Given the description of an element on the screen output the (x, y) to click on. 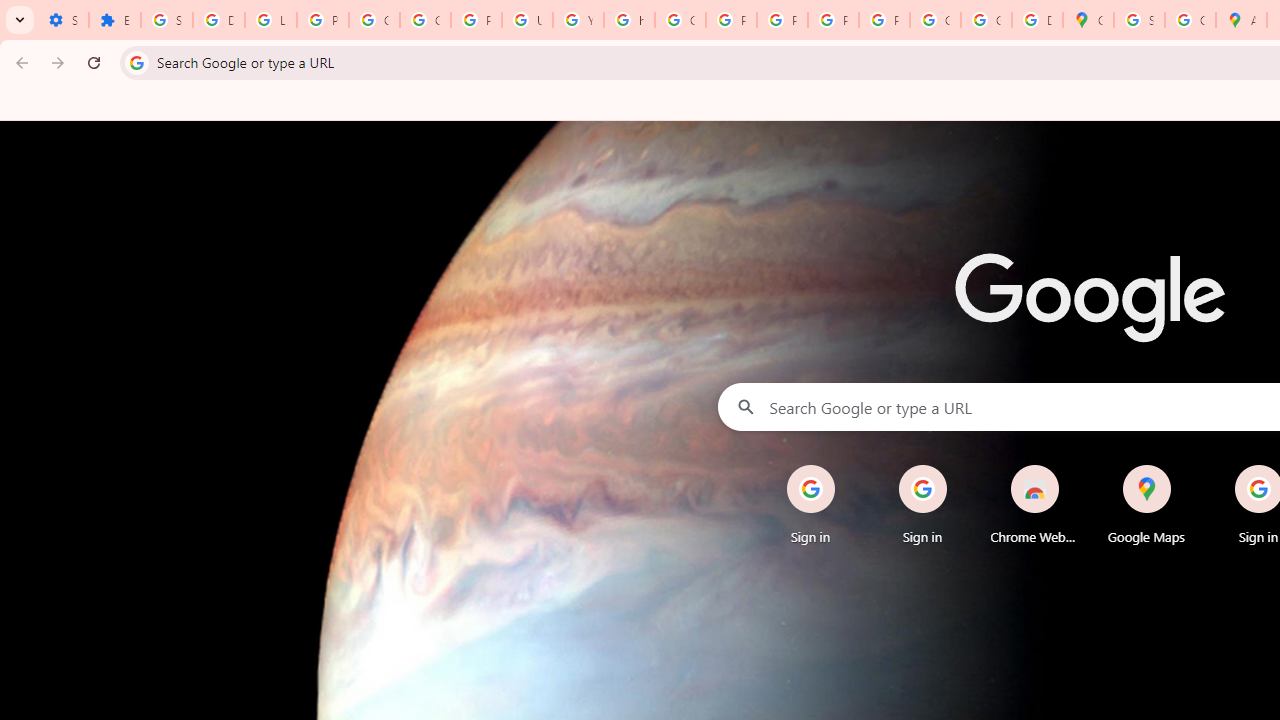
Google Account Help (374, 20)
Google Maps (1087, 20)
Sign in - Google Accounts (166, 20)
https://scholar.google.com/ (629, 20)
YouTube (578, 20)
Delete photos & videos - Computer - Google Photos Help (218, 20)
